Given the description of an element on the screen output the (x, y) to click on. 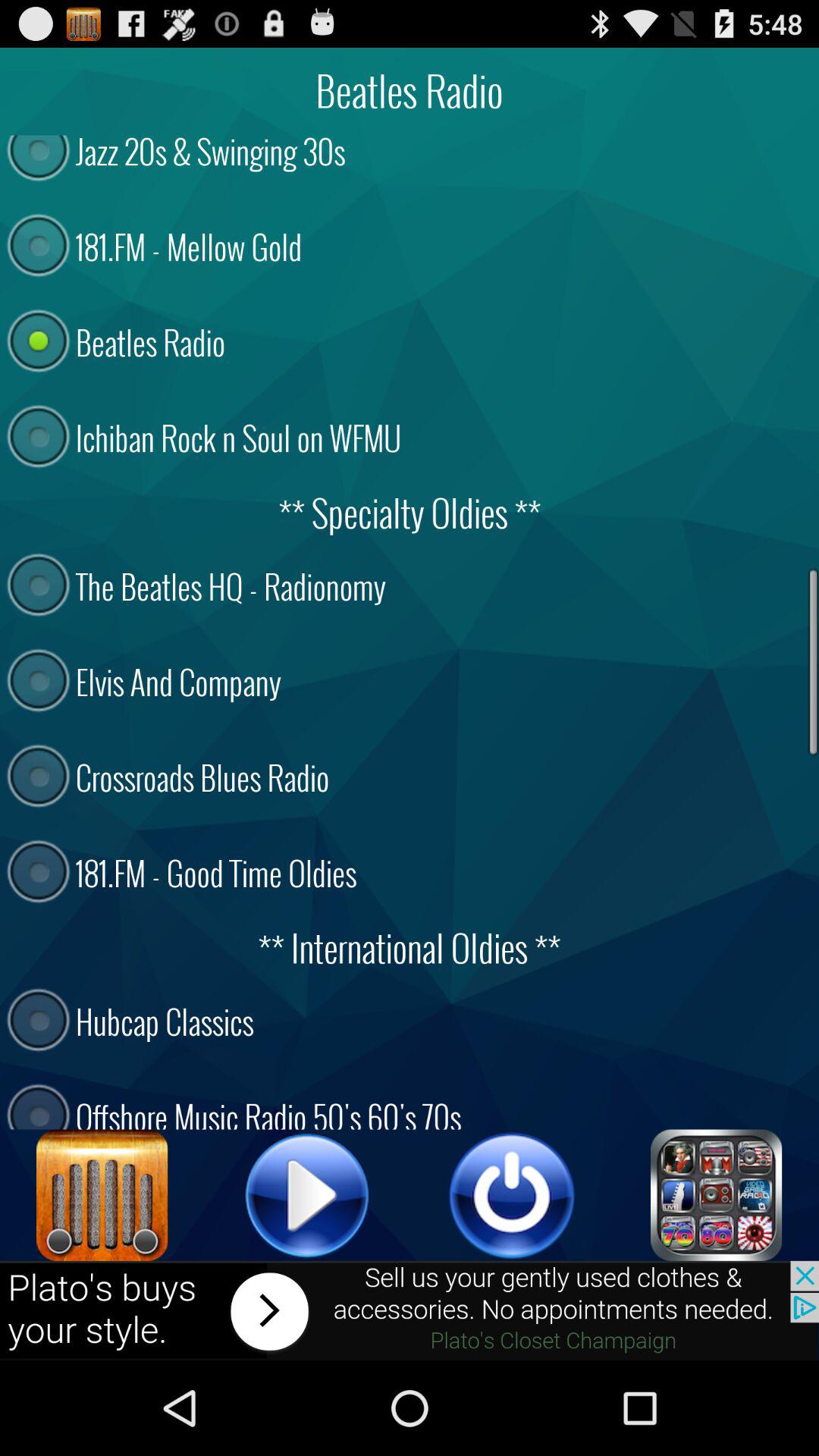
games (716, 1194)
